Given the description of an element on the screen output the (x, y) to click on. 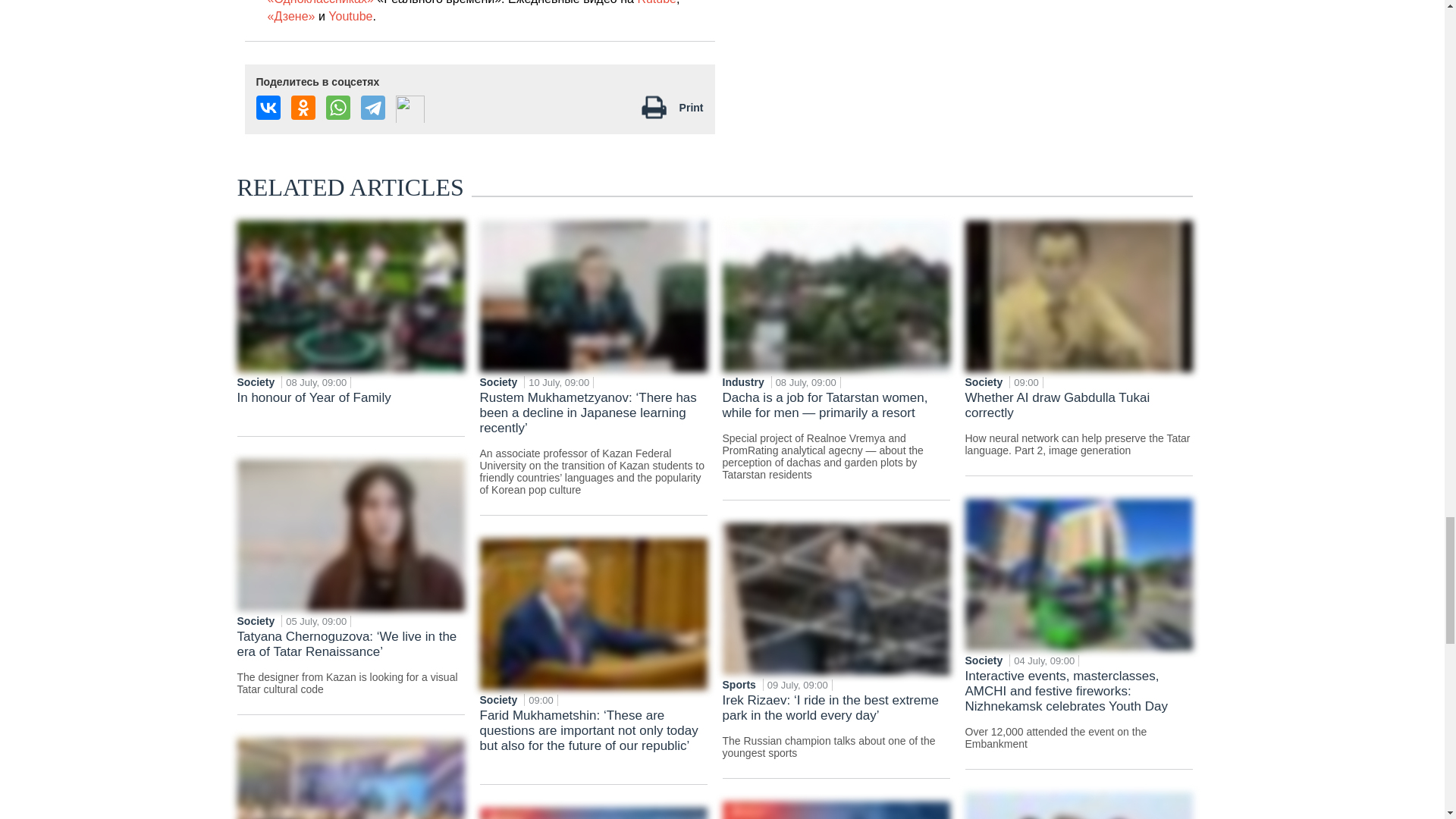
Youtube (350, 15)
Society (256, 621)
Rutube (657, 2)
In honour of Year of Family (349, 408)
Telegram (373, 107)
Society (256, 381)
Society (499, 381)
WhatsApp (338, 107)
Print (691, 107)
